Given the description of an element on the screen output the (x, y) to click on. 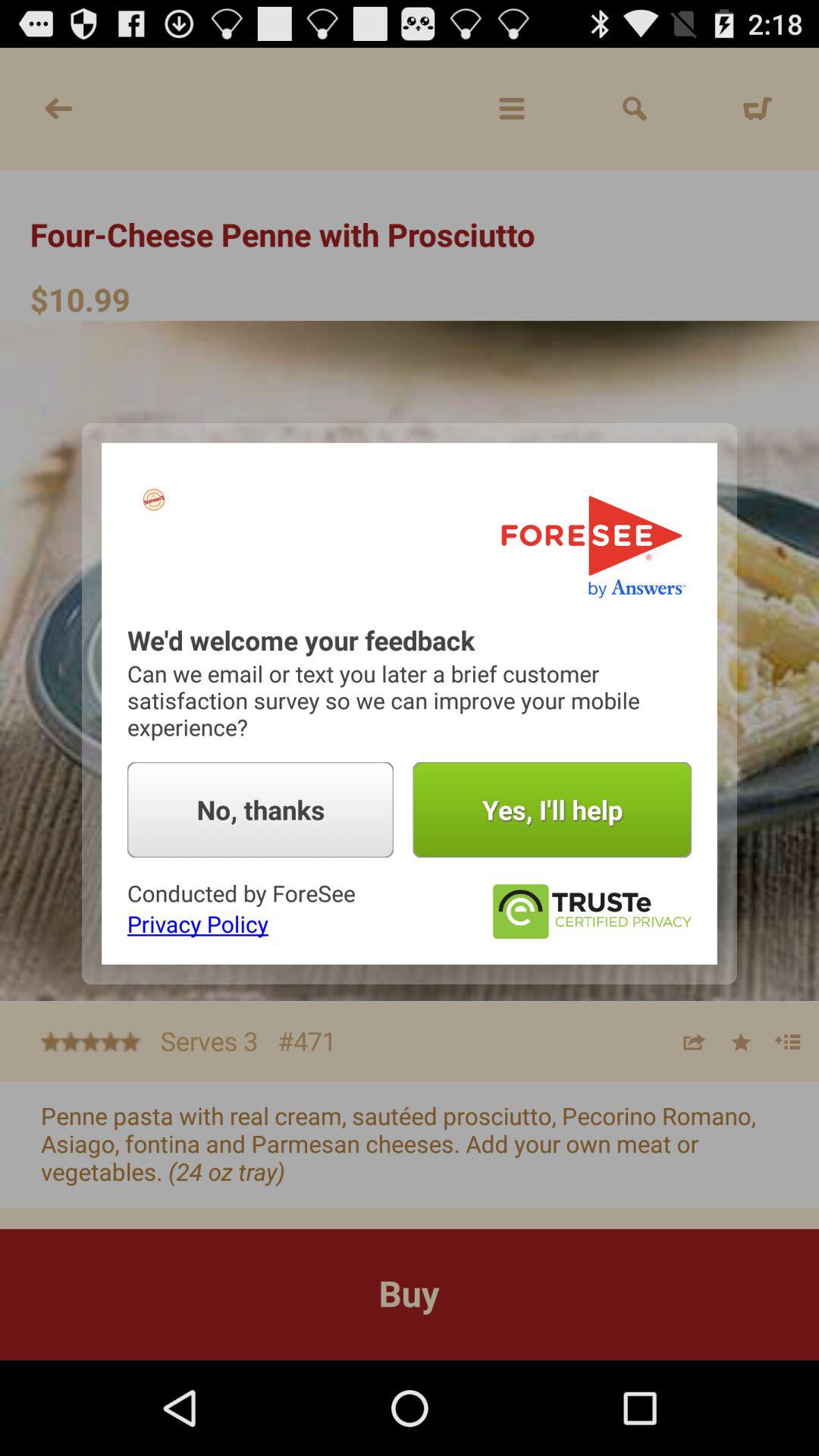
flip until the no, thanks button (260, 809)
